Given the description of an element on the screen output the (x, y) to click on. 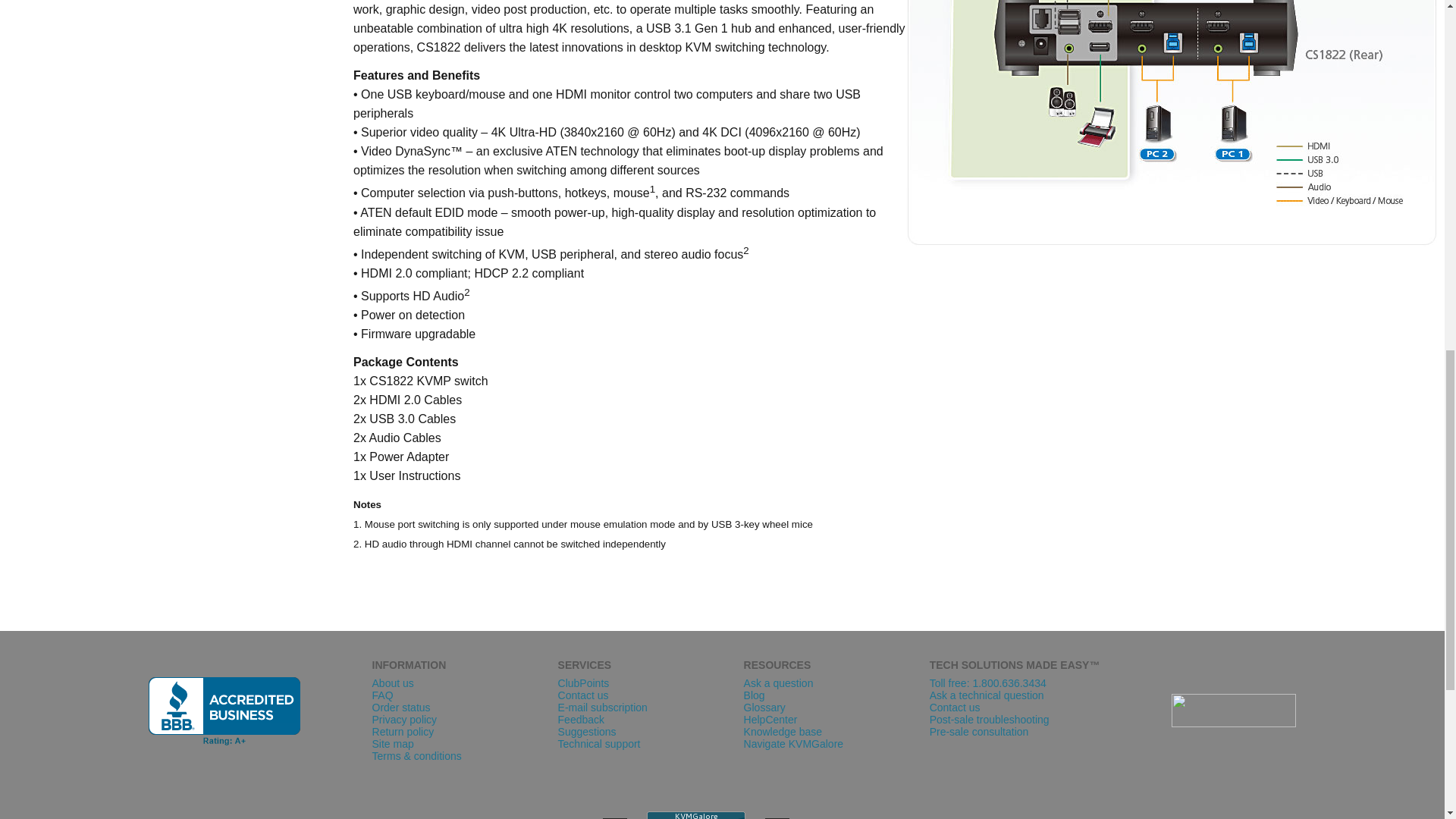
CS1822 (1171, 123)
